Given the description of an element on the screen output the (x, y) to click on. 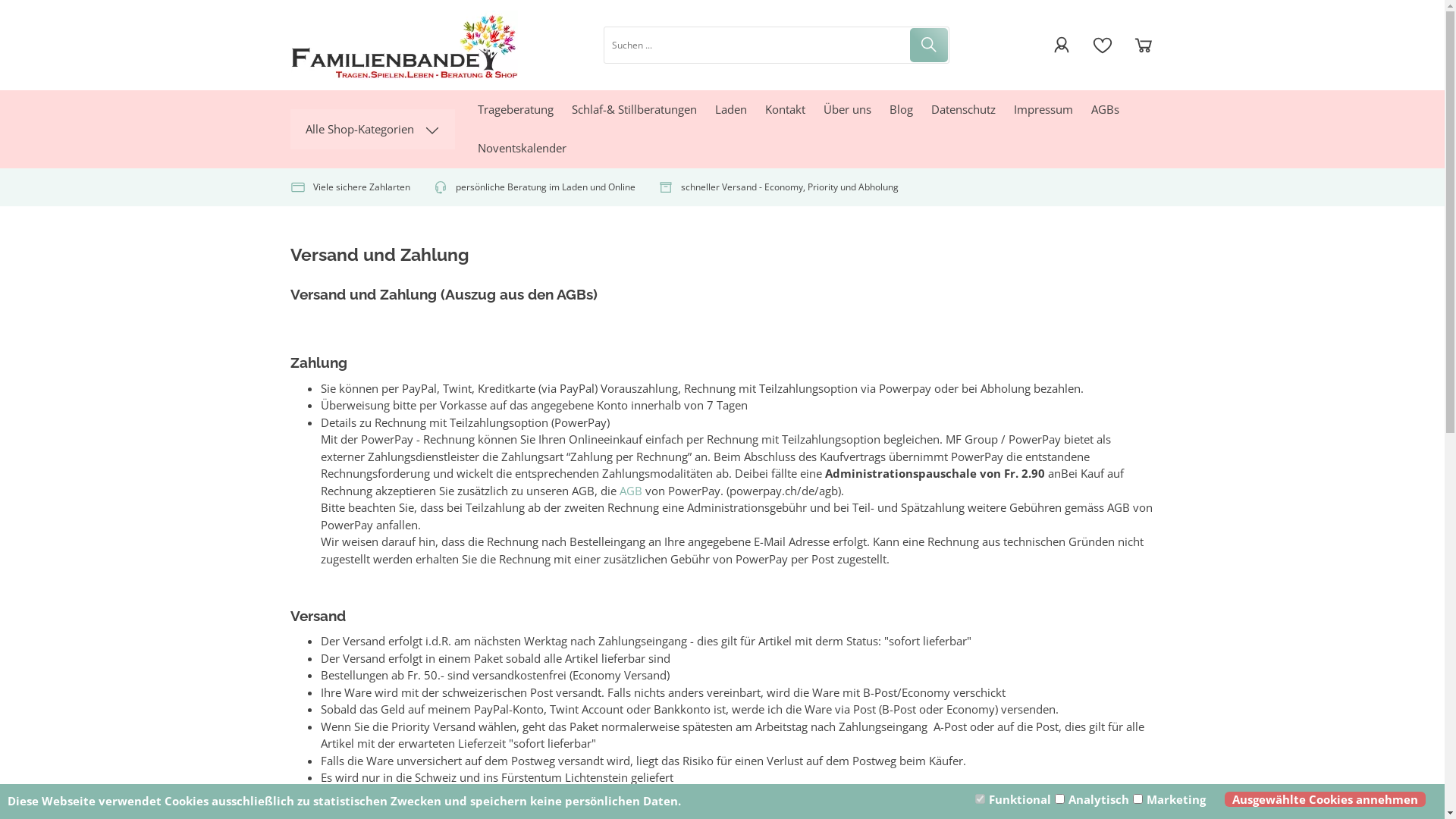
Noventskalender Element type: text (522, 147)
Suchen Element type: hover (927, 44)
Warenkorb Element type: hover (1142, 44)
Trageberatung Element type: text (515, 109)
AGB Element type: text (629, 490)
Kontakt Element type: text (784, 109)
Blog Element type: text (900, 109)
AGBs Element type: text (1104, 109)
Impressum Element type: text (1042, 109)
Wunschliste Element type: hover (1101, 44)
Laden Element type: text (729, 109)
Schlaf-& Stillberatungen Element type: text (634, 109)
Datenschutz Element type: text (963, 109)
